Given the description of an element on the screen output the (x, y) to click on. 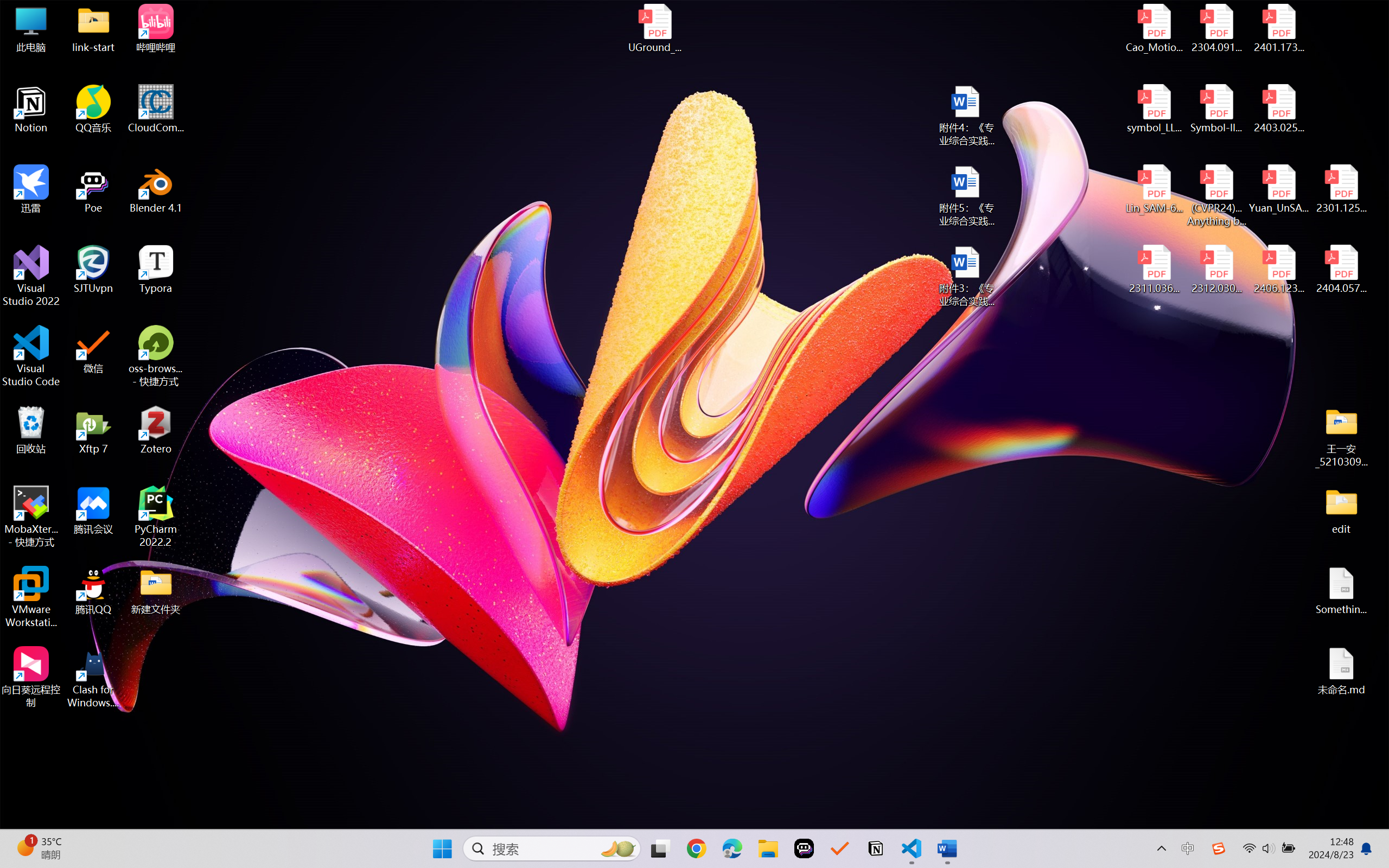
2311.03658v2.pdf (1154, 269)
Something.md (1340, 591)
(CVPR24)Matching Anything by Segmenting Anything.pdf (1216, 195)
Visual Studio 2022 (31, 276)
2403.02502v1.pdf (1278, 109)
2312.03032v2.pdf (1216, 269)
2404.05719v1.pdf (1340, 269)
